Given the description of an element on the screen output the (x, y) to click on. 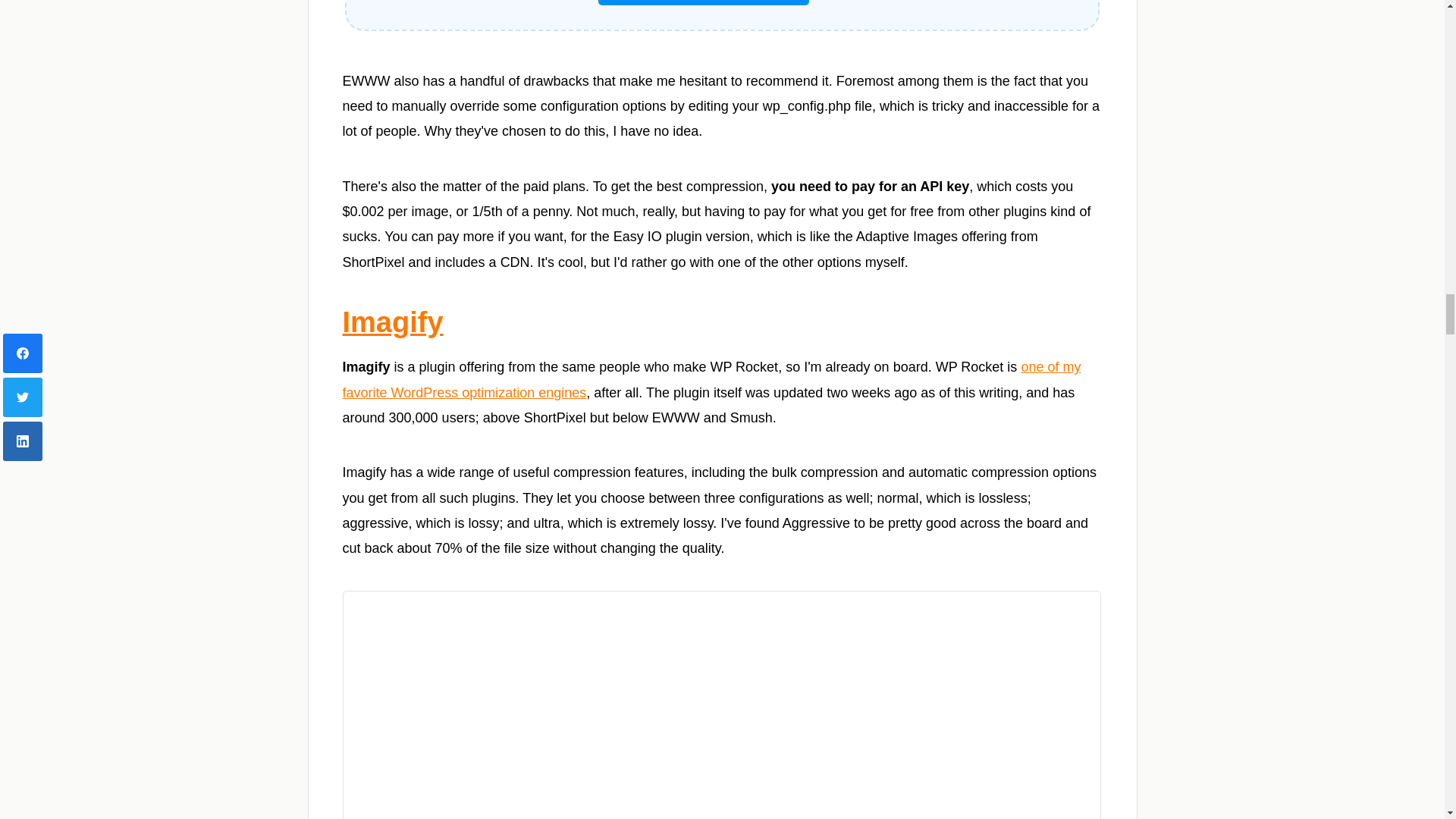
Free Strategy Call (703, 2)
